Given the description of an element on the screen output the (x, y) to click on. 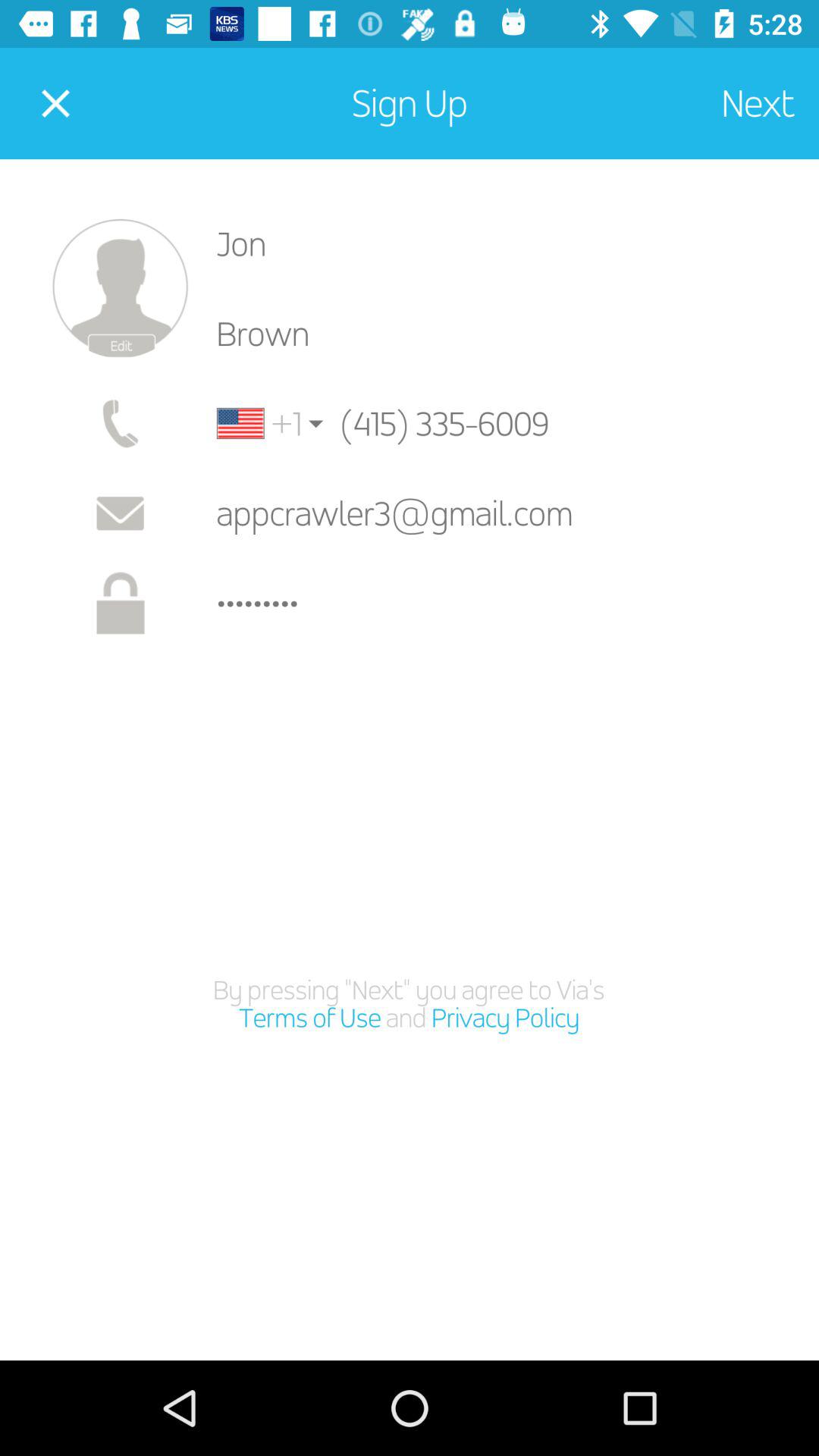
open item above the appcrawler3@gmail.com (259, 423)
